Given the description of an element on the screen output the (x, y) to click on. 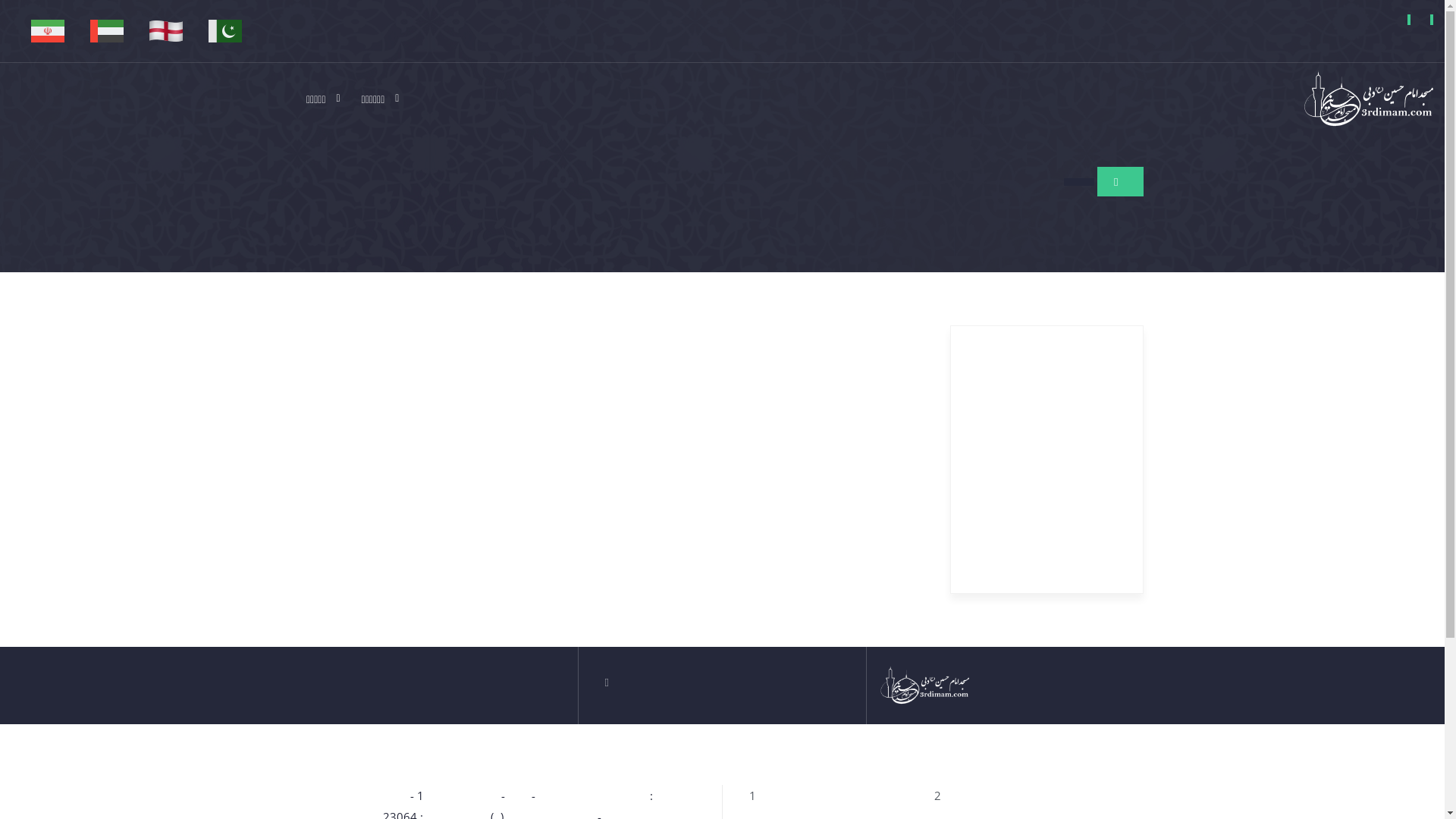
Give Feedback Element type: hover (1408, 19)
Contact Us Element type: hover (1431, 19)
